Given the description of an element on the screen output the (x, y) to click on. 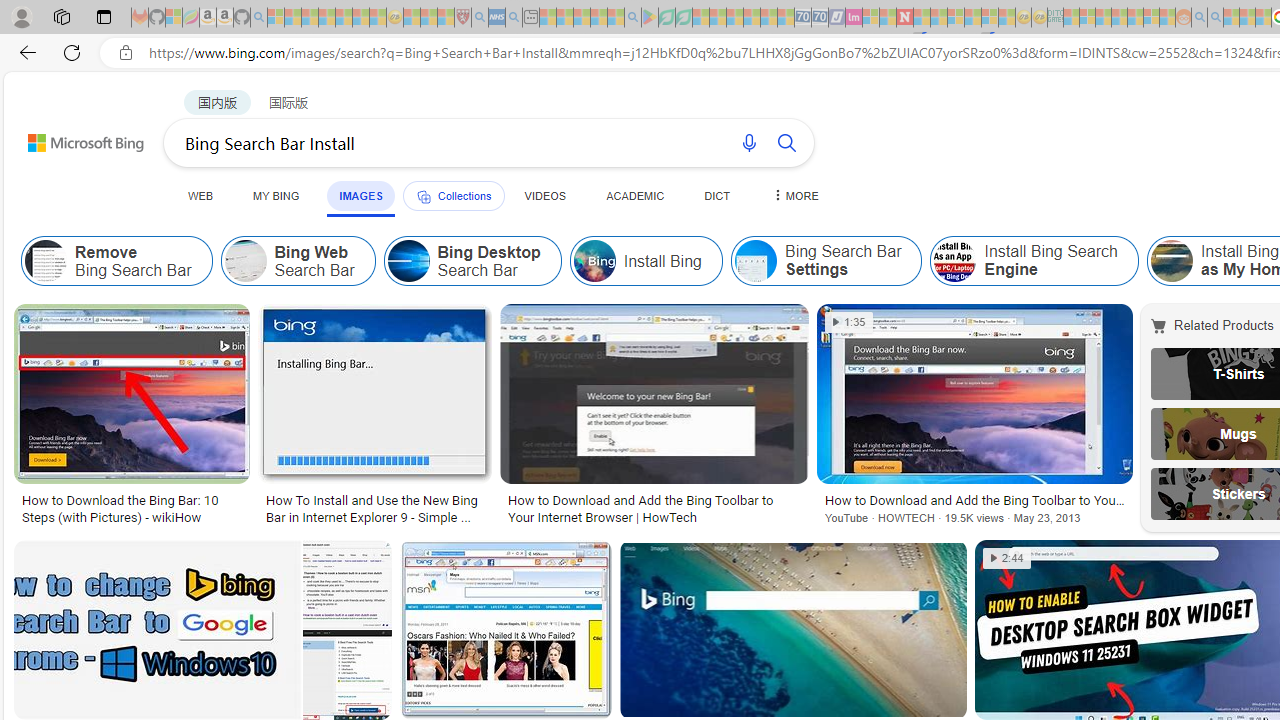
Search button (786, 142)
google - Search - Sleeping (632, 17)
Back to Bing search (73, 138)
Install Bing Search Engine (955, 260)
14 Common Myths Debunked By Scientific Facts - Sleeping (938, 17)
Bing Web Search Bar (298, 260)
Terms of Use Agreement - Sleeping (666, 17)
Bing Desktop Search Bar (472, 260)
MY BING (276, 195)
2:44 (1007, 558)
